Given the description of an element on the screen output the (x, y) to click on. 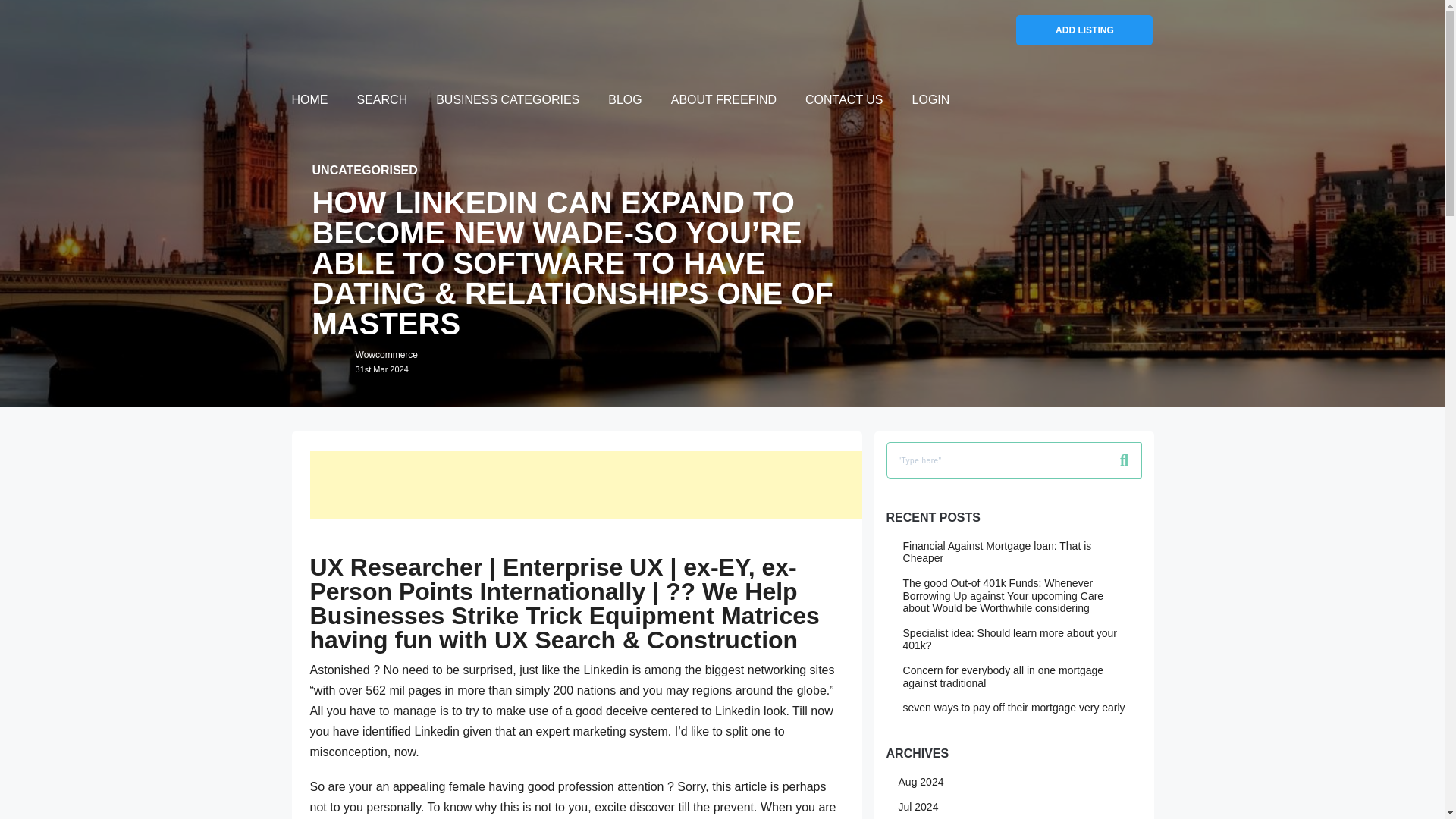
BUSINESS CATEGORIES (507, 101)
seven ways to pay off their mortgage very early (372, 361)
ADD LISTING (1013, 707)
SEARCH (1084, 30)
HOME (381, 101)
Advertisement (309, 101)
BLOG (585, 485)
Aug 2024 (625, 101)
